Given the description of an element on the screen output the (x, y) to click on. 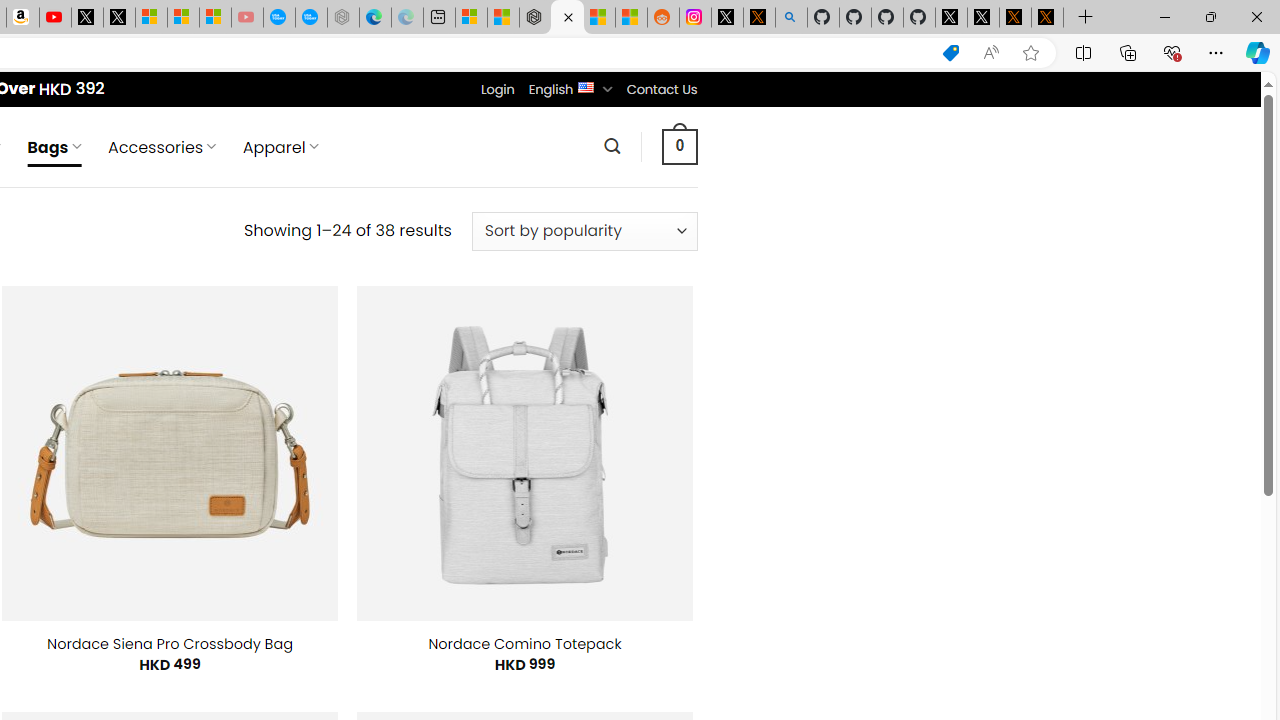
  0   (679, 146)
